Given the description of an element on the screen output the (x, y) to click on. 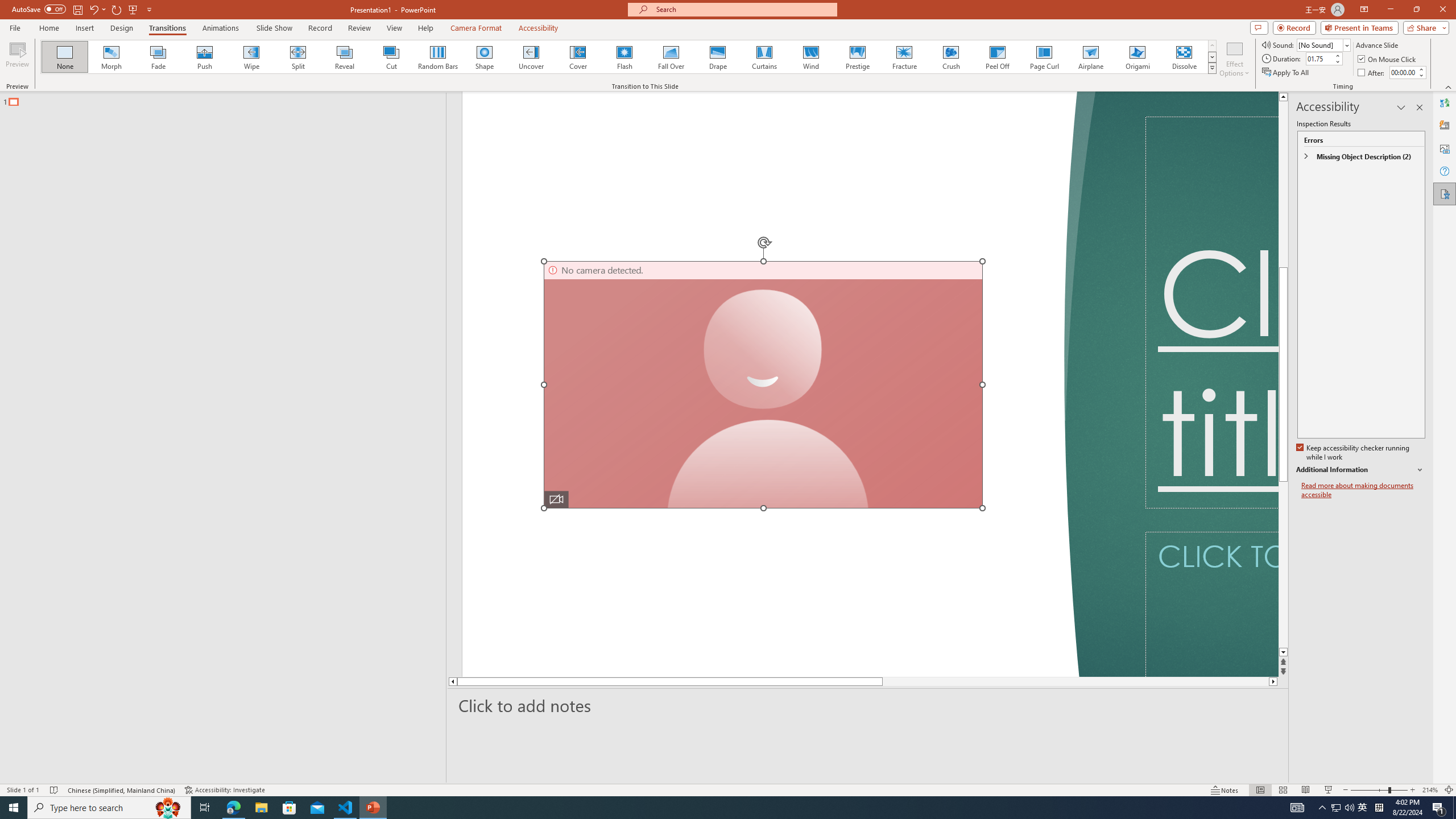
AutomationID: AnimationTransitionGallery (628, 56)
Peel Off (997, 56)
Drape (717, 56)
Effect Options (1234, 58)
Title TextBox (1211, 312)
Shape (484, 56)
Read more about making documents accessible (1363, 489)
